Given the description of an element on the screen output the (x, y) to click on. 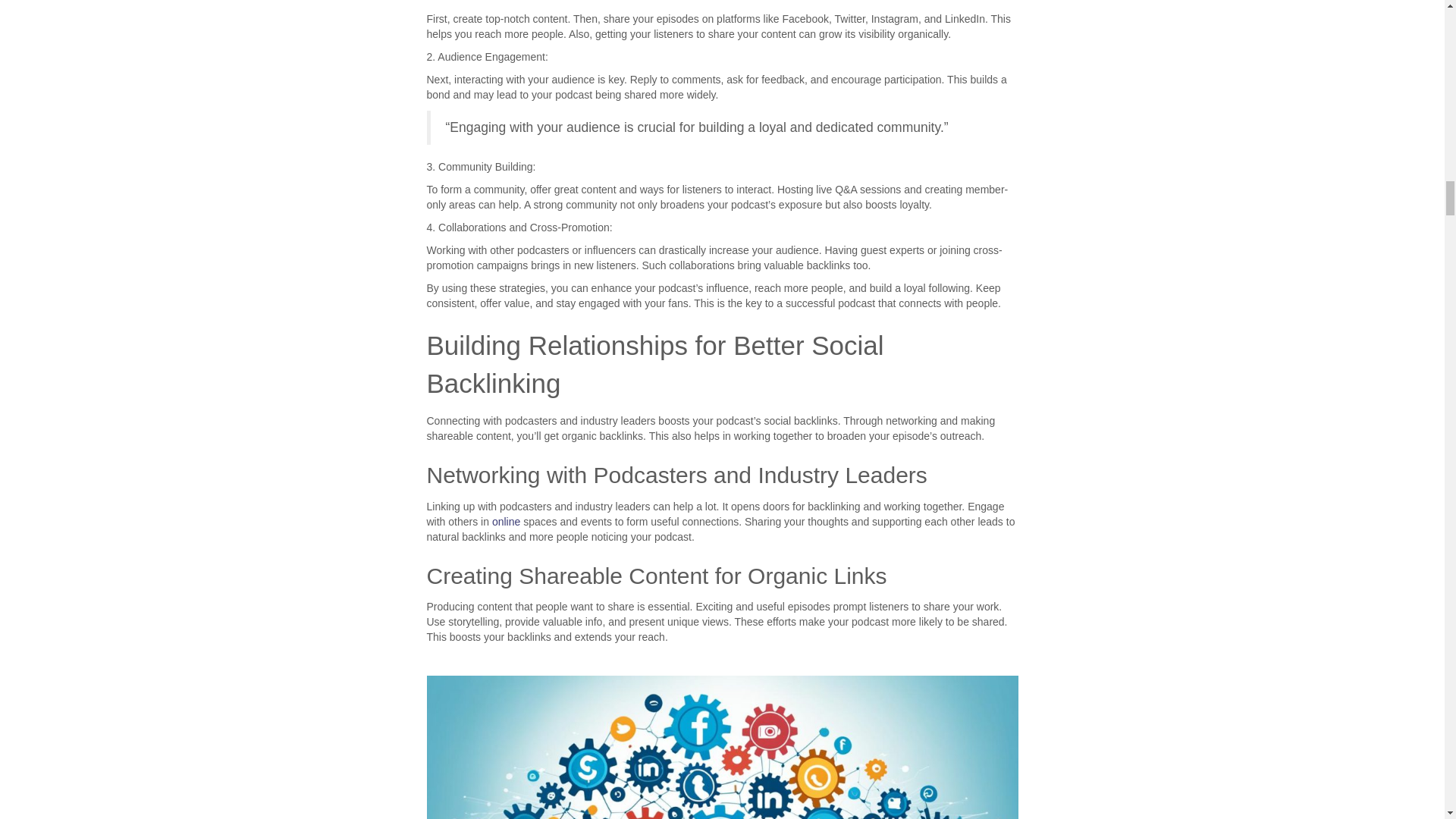
online (505, 521)
building relationships for podcast backlinking (721, 747)
